Given the description of an element on the screen output the (x, y) to click on. 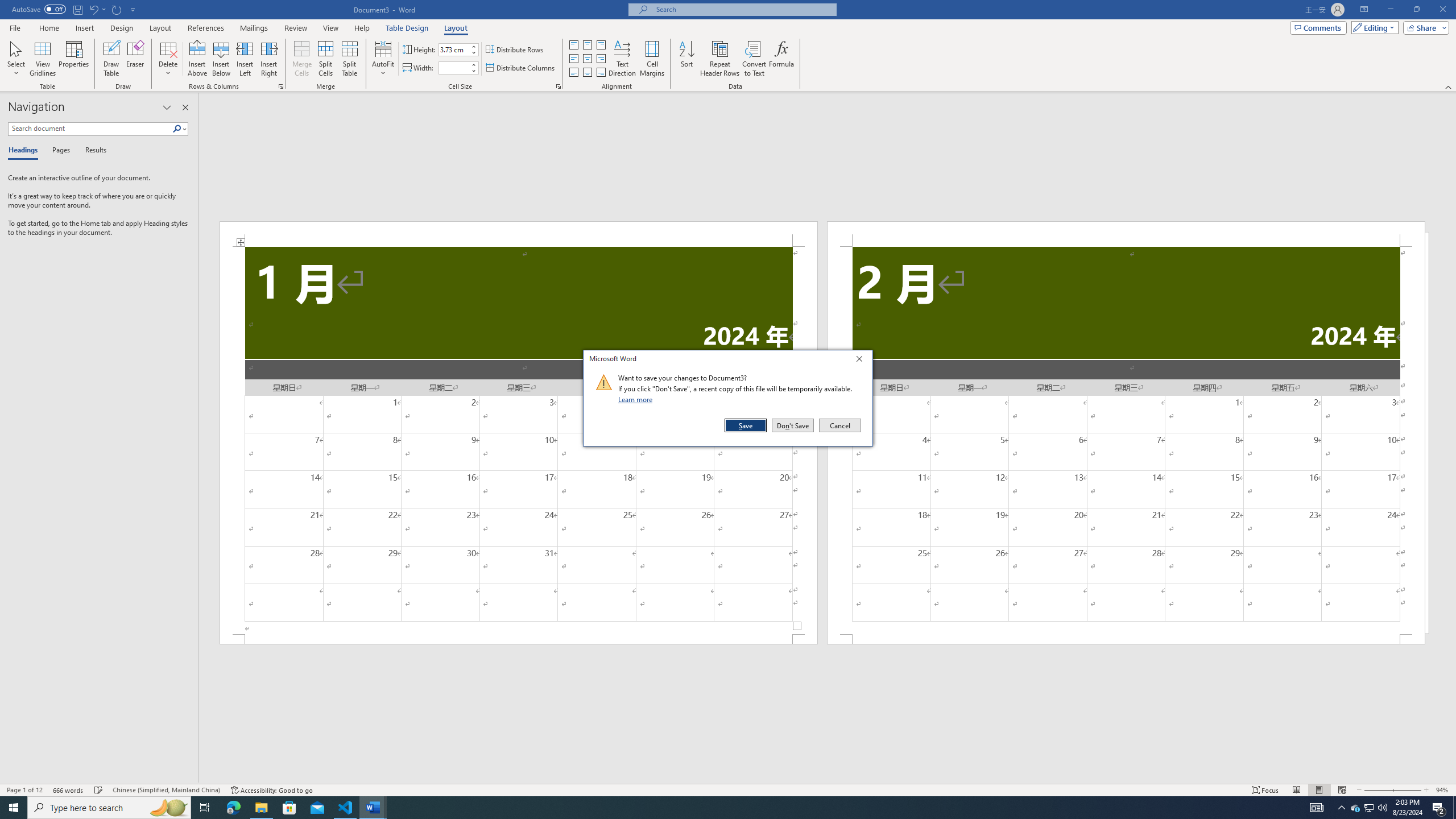
Repeat Header Rows (719, 58)
Don't Save (792, 425)
Insert Below (220, 58)
Undo Increase Indent (92, 9)
Learn more (636, 399)
More (473, 64)
Align Top Right (601, 44)
Spelling and Grammar Check Checking (98, 790)
Footer -Section 1- (518, 638)
